Given the description of an element on the screen output the (x, y) to click on. 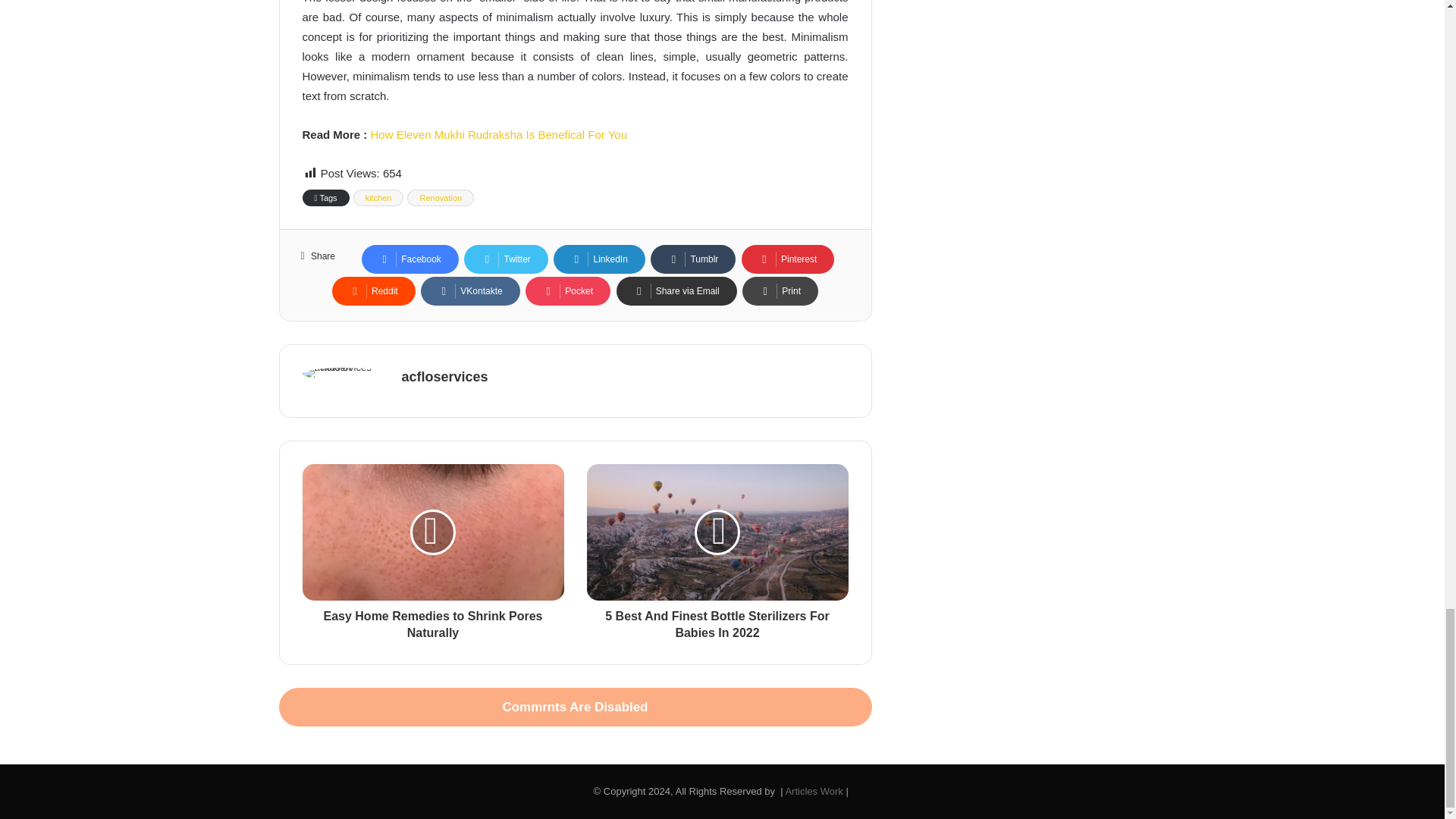
Twitter (505, 258)
LinkedIn (599, 258)
Tumblr (692, 258)
Facebook (409, 258)
How Eleven Mukhi Rudraksha Is Benefical For You (499, 133)
Renovation (440, 197)
kitchen (378, 197)
